Given the description of an element on the screen output the (x, y) to click on. 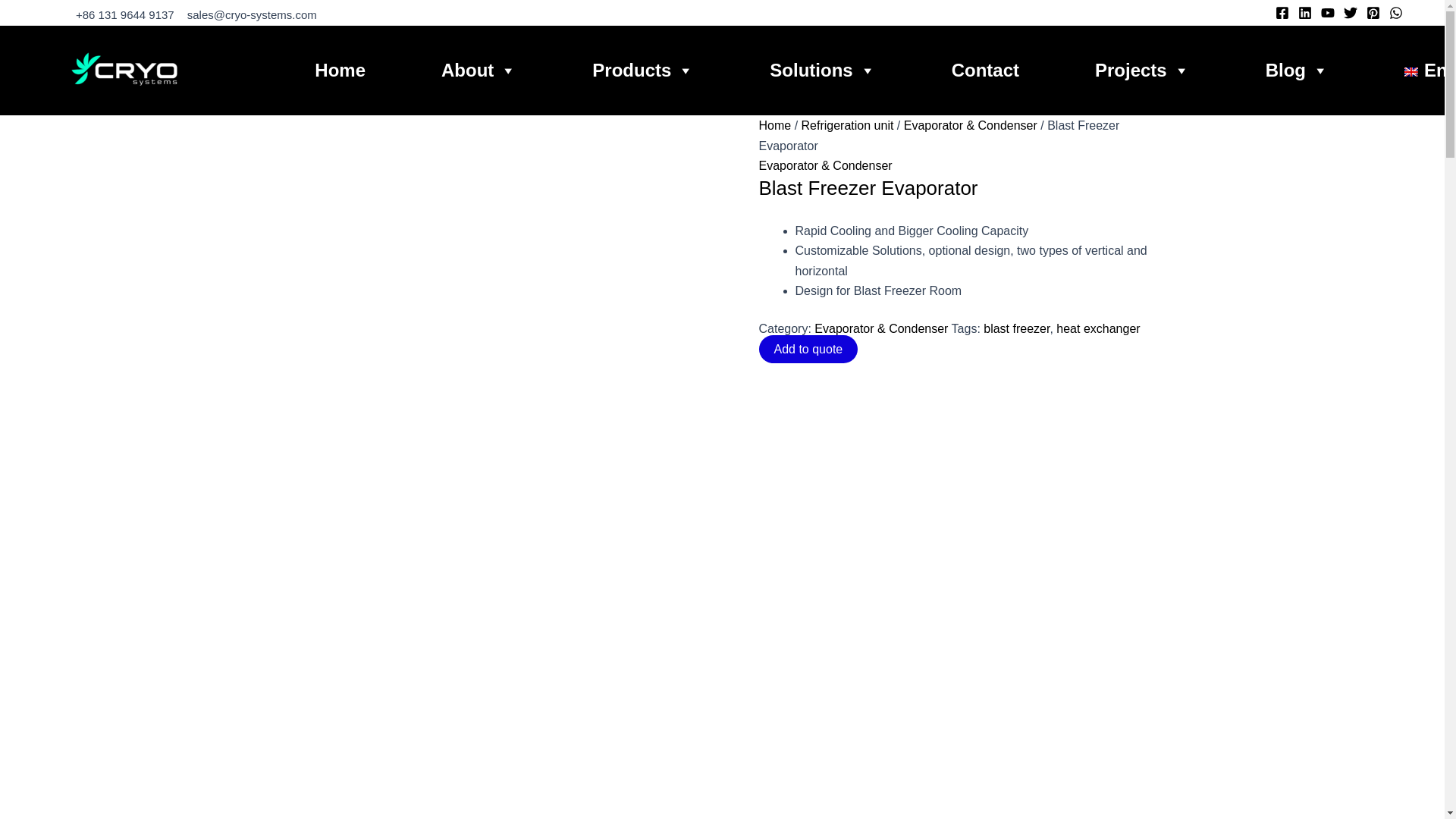
English (1430, 70)
About (478, 70)
Solutions (822, 70)
Products (643, 70)
Home (339, 70)
